Given the description of an element on the screen output the (x, y) to click on. 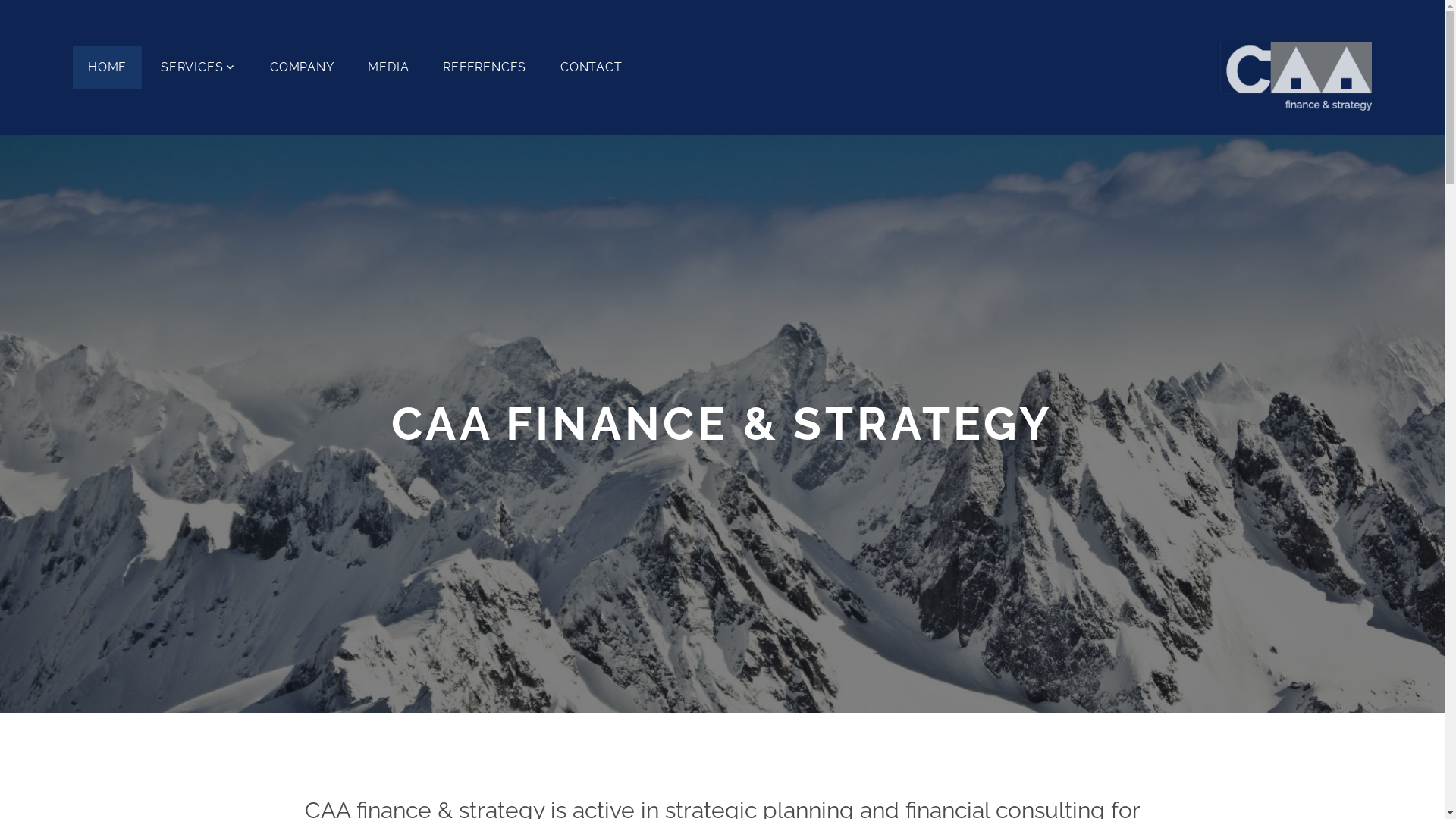
HOME Element type: text (106, 67)
MEDIA Element type: text (387, 67)
REFERENCES Element type: text (484, 67)
CAA FINANCE & STRATEGY Element type: text (722, 423)
COMPANY Element type: text (301, 67)
SERVICES Element type: text (198, 67)
CONTACT Element type: text (591, 67)
